Given the description of an element on the screen output the (x, y) to click on. 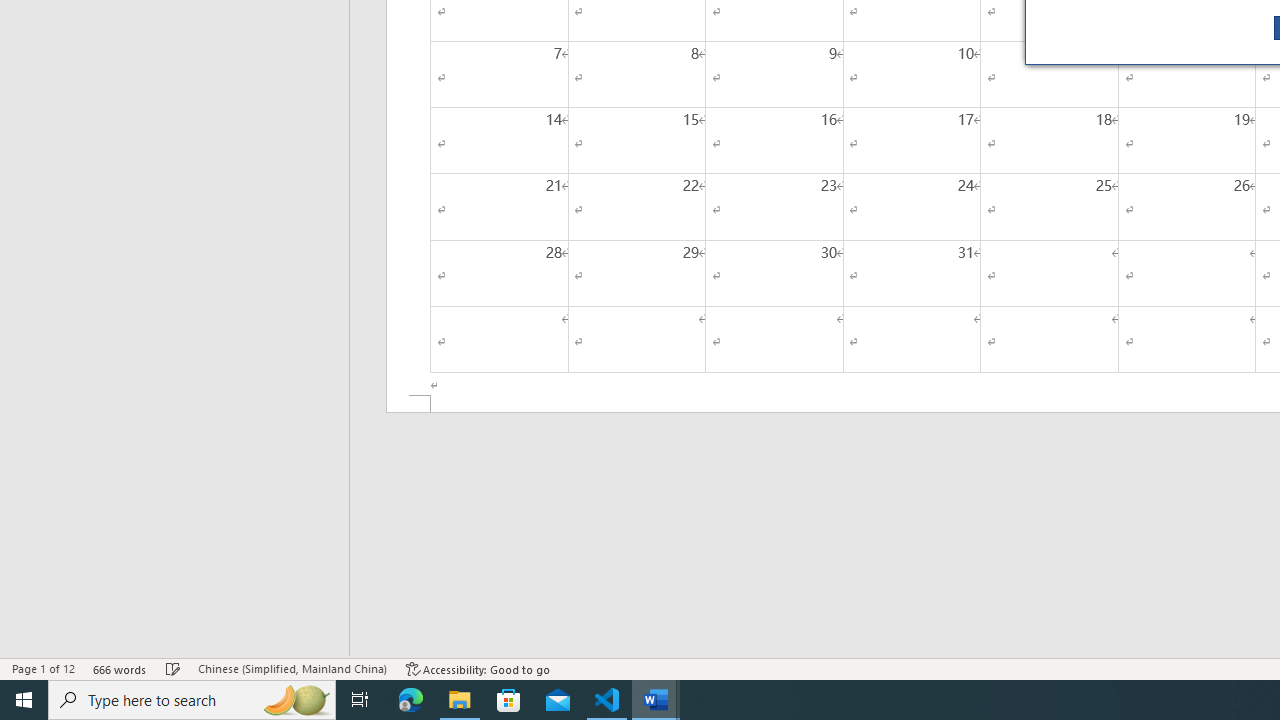
Language Chinese (Simplified, Mainland China) (292, 668)
